Given the description of an element on the screen output the (x, y) to click on. 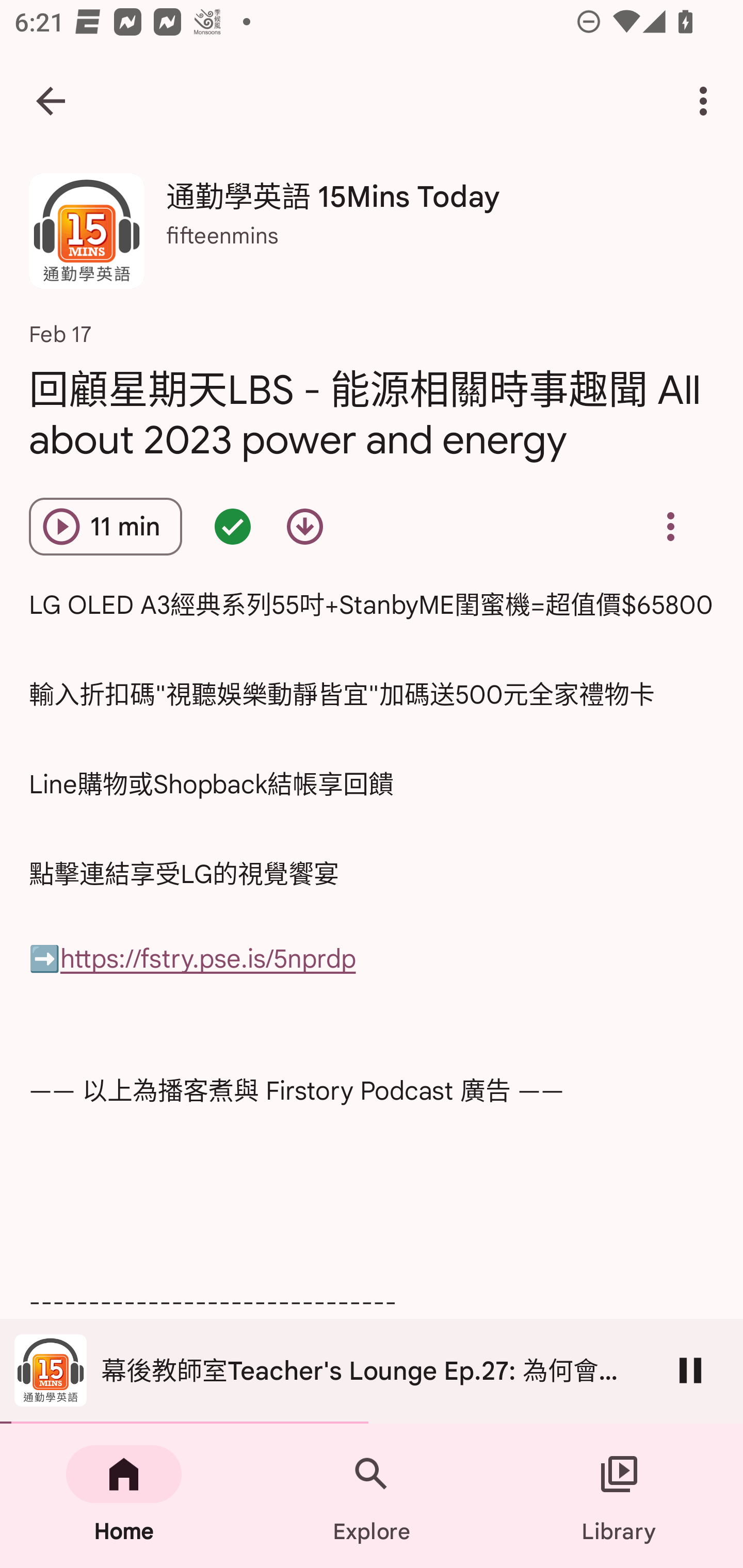
Navigate up (50, 101)
More options (706, 101)
通勤學英語 15Mins Today 通勤學英語 15Mins Today fifteenmins (371, 238)
Episode queued - double tap for options (232, 525)
Download episode (304, 525)
Overflow menu (670, 525)
Pause (690, 1370)
Explore (371, 1495)
Library (619, 1495)
